Given the description of an element on the screen output the (x, y) to click on. 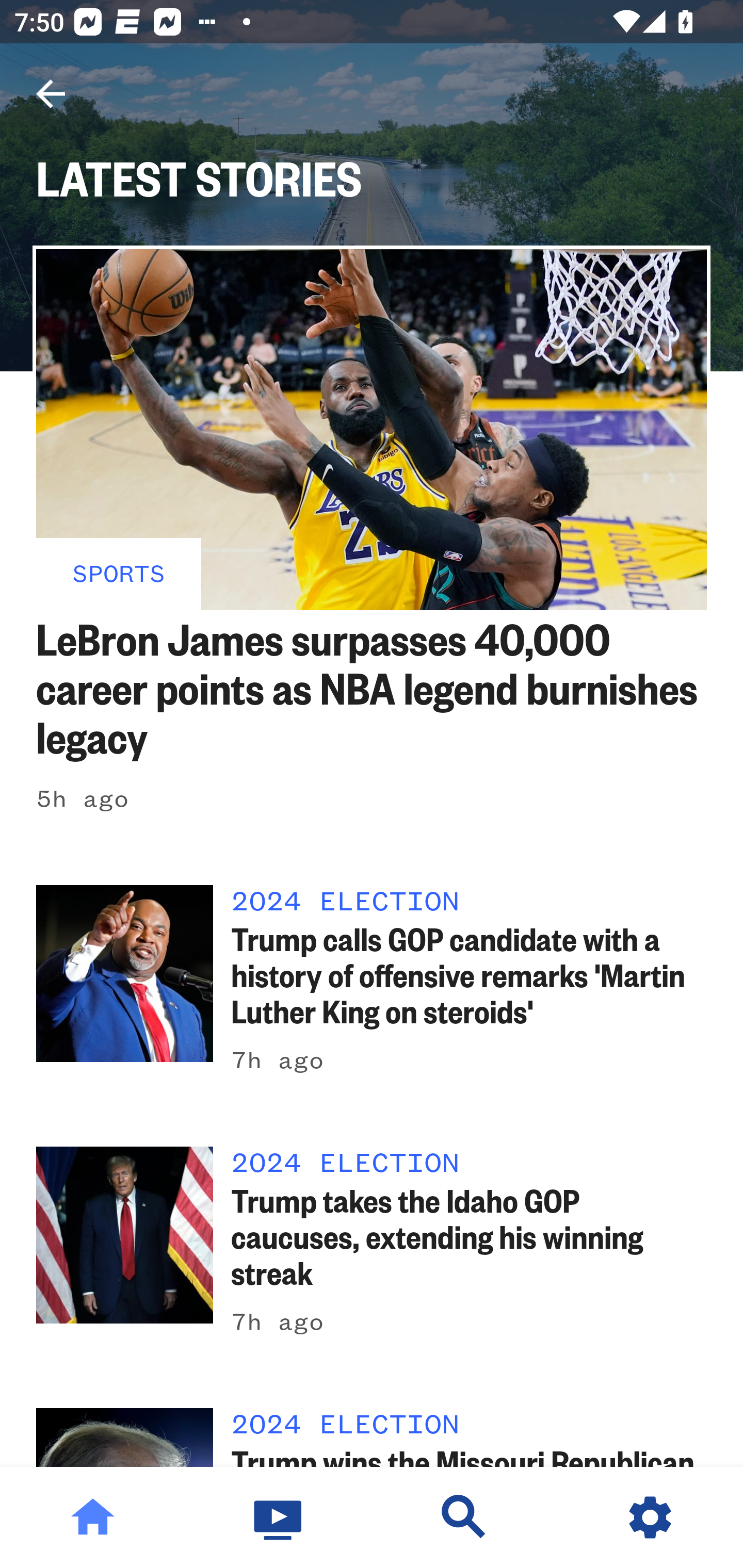
Navigate up (50, 93)
Watch (278, 1517)
Discover (464, 1517)
Settings (650, 1517)
